Given the description of an element on the screen output the (x, y) to click on. 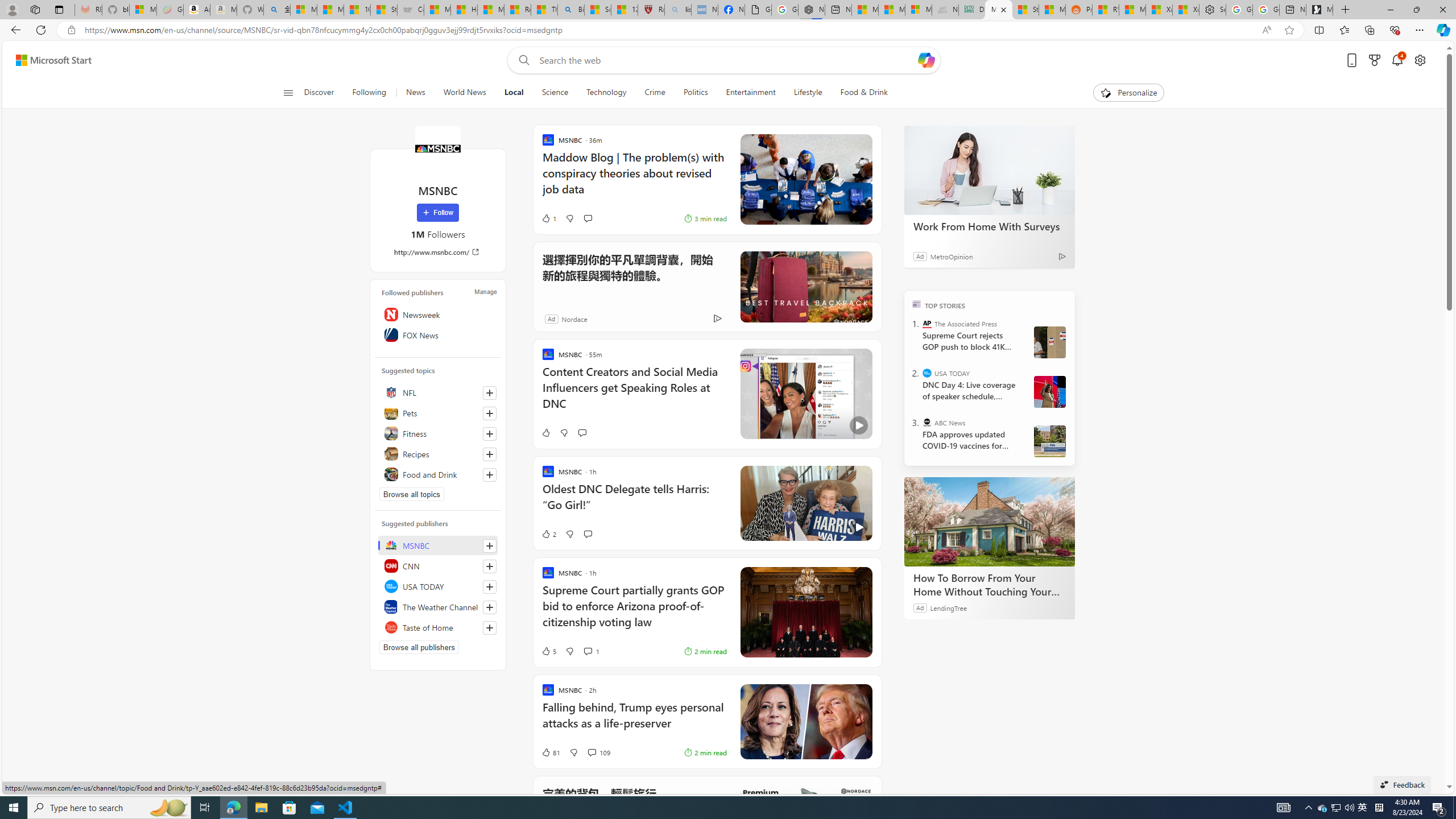
Browse all publishers (419, 647)
Class: hero-image (805, 503)
5 Like (547, 650)
View comments 109 Comment (591, 751)
Bing (571, 9)
How I Got Rid of Microsoft Edge's Unnecessary Features (463, 9)
